Given the description of an element on the screen output the (x, y) to click on. 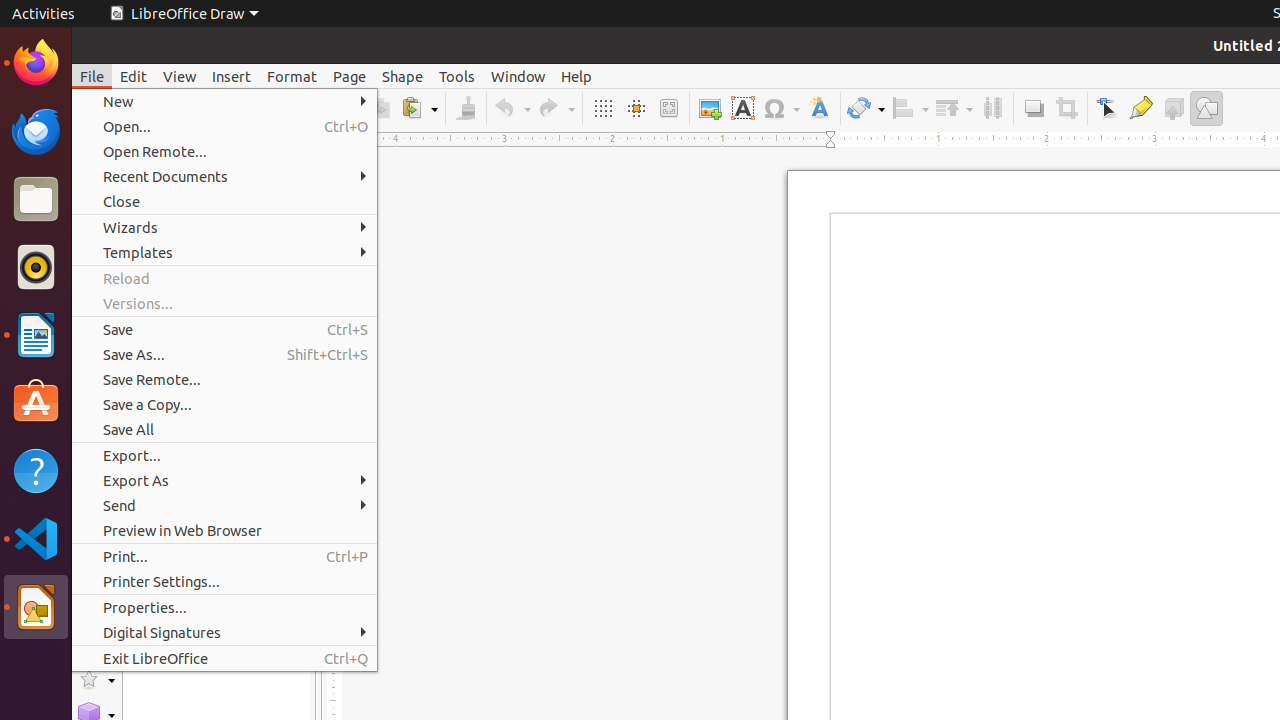
Reload Element type: menu-item (224, 278)
Insert Element type: menu (231, 76)
LibreOffice Draw Element type: menu (183, 13)
Save Remote... Element type: menu-item (224, 379)
Arrow Shapes Element type: push-button (96, 574)
